Given the description of an element on the screen output the (x, y) to click on. 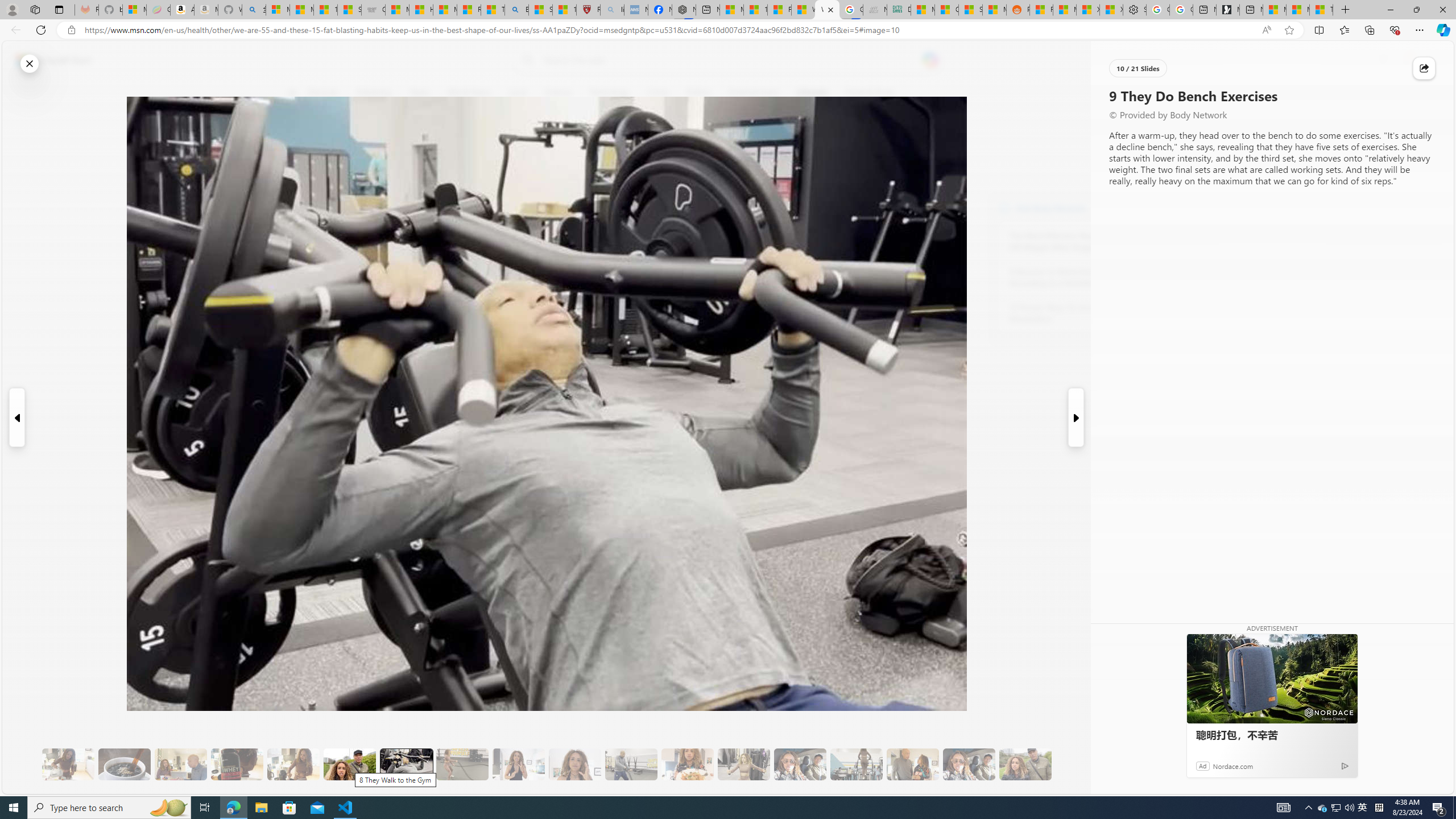
Politics (697, 92)
14 They Have Salmon and Veggies for Dinner (687, 764)
Microsoft rewards (1382, 60)
Notifications (1405, 60)
MSNBC - MSN (922, 9)
To get missing image descriptions, open the context menu. (1109, 92)
Stocks - MSN (970, 9)
Entertainment (753, 92)
